Given the description of an element on the screen output the (x, y) to click on. 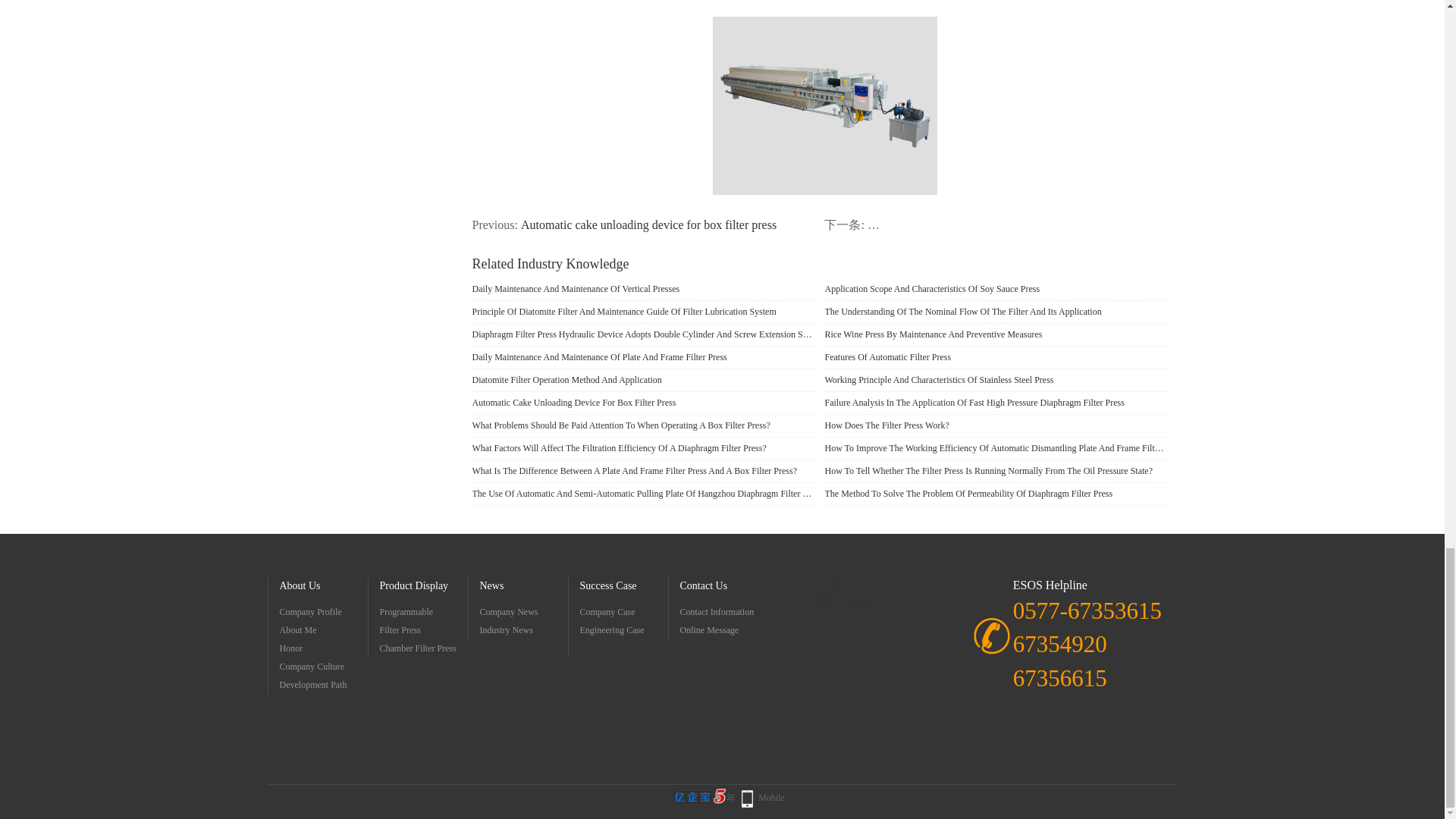
Daily Maintenance And Maintenance Of Vertical Presses (642, 289)
Automatic cake unloading device for box filter press (648, 225)
